Given the description of an element on the screen output the (x, y) to click on. 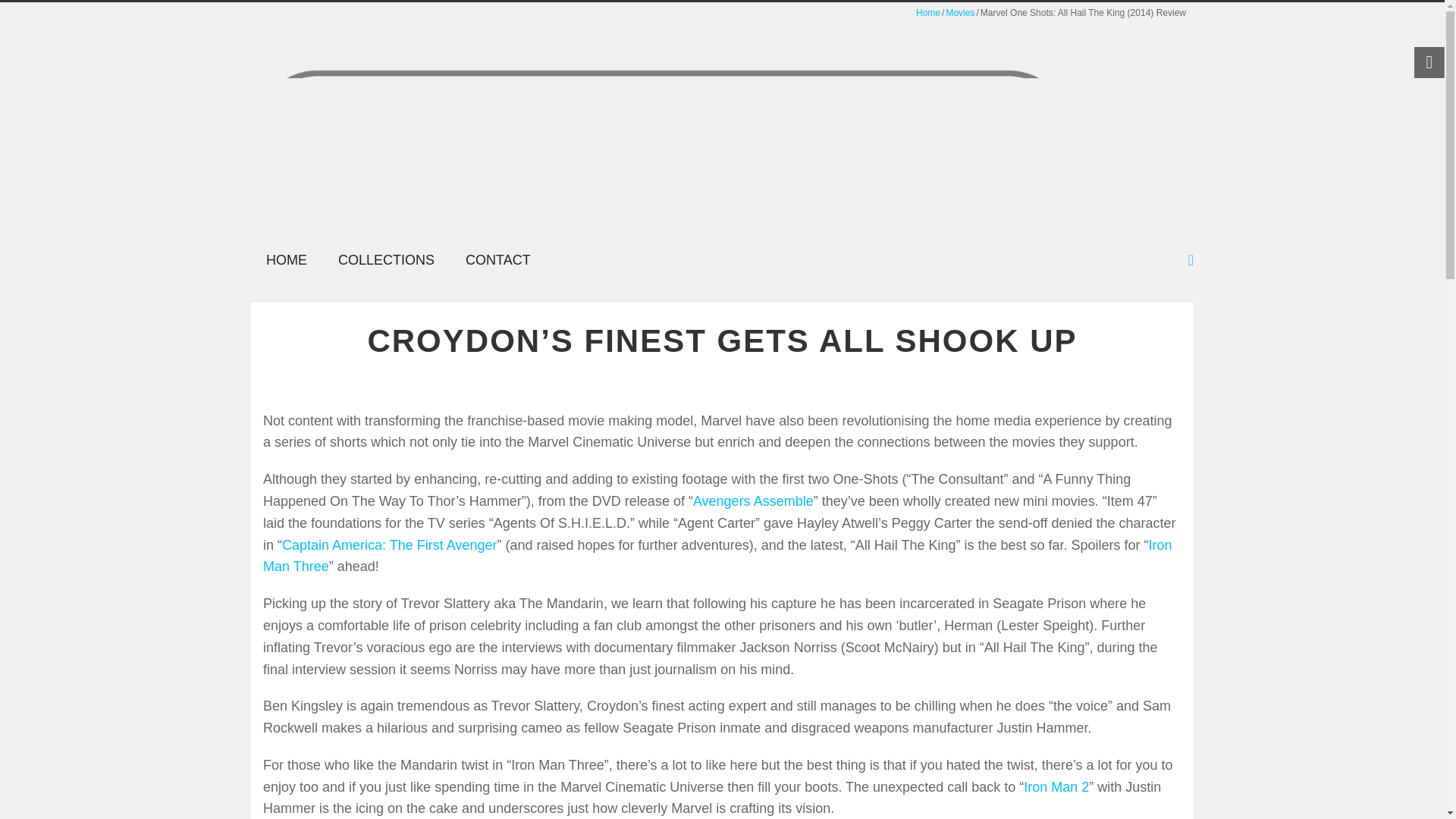
Captain America: The First Avenger (389, 544)
Iron Man Three (717, 555)
CONTACT (497, 259)
Avengers Assemble (753, 500)
HOME (285, 259)
Movies (959, 12)
COLLECTIONS (386, 259)
Home (927, 12)
Iron Man 2 (1056, 786)
